Given the description of an element on the screen output the (x, y) to click on. 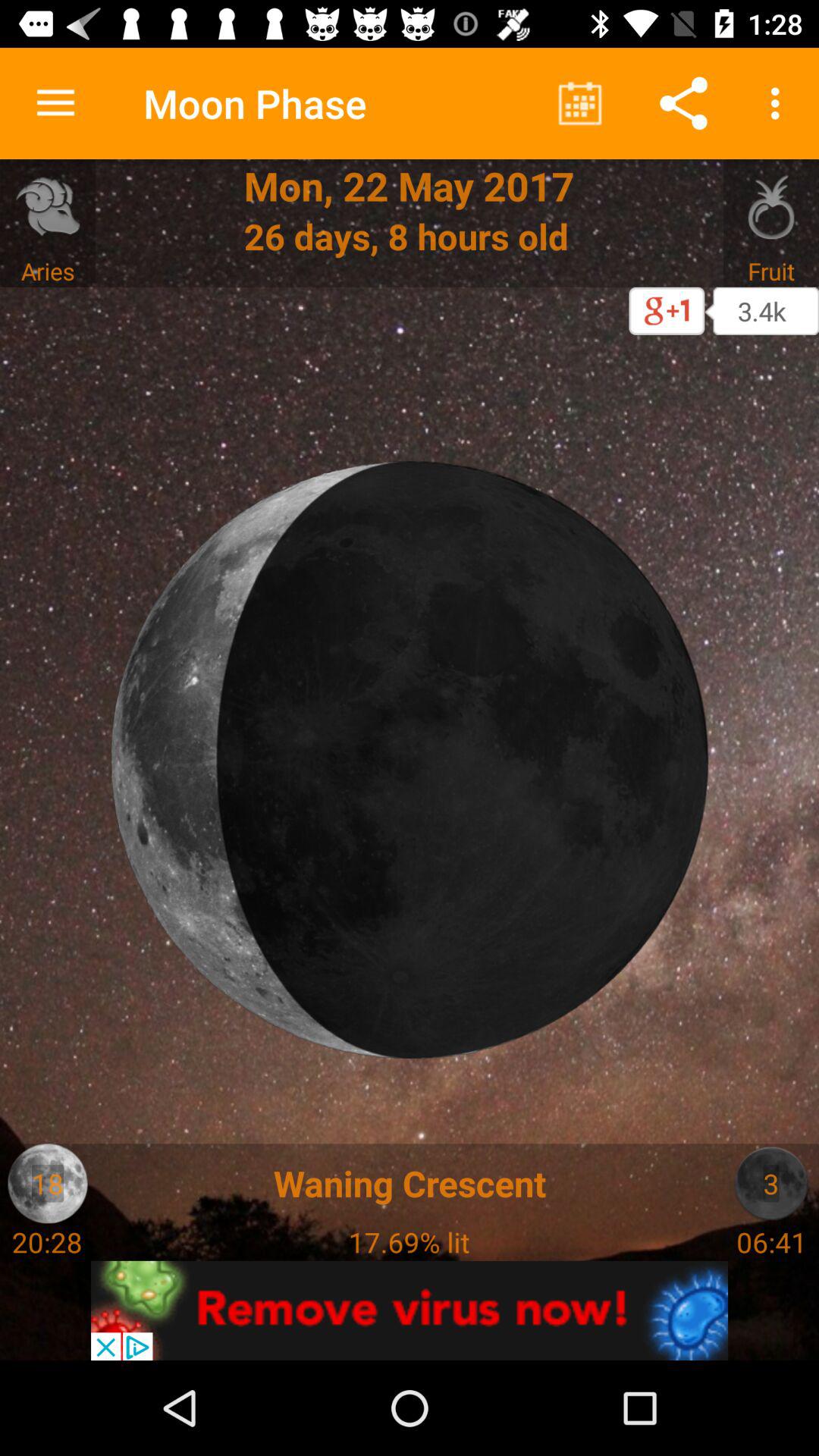
to delete the virus (409, 1310)
